Given the description of an element on the screen output the (x, y) to click on. 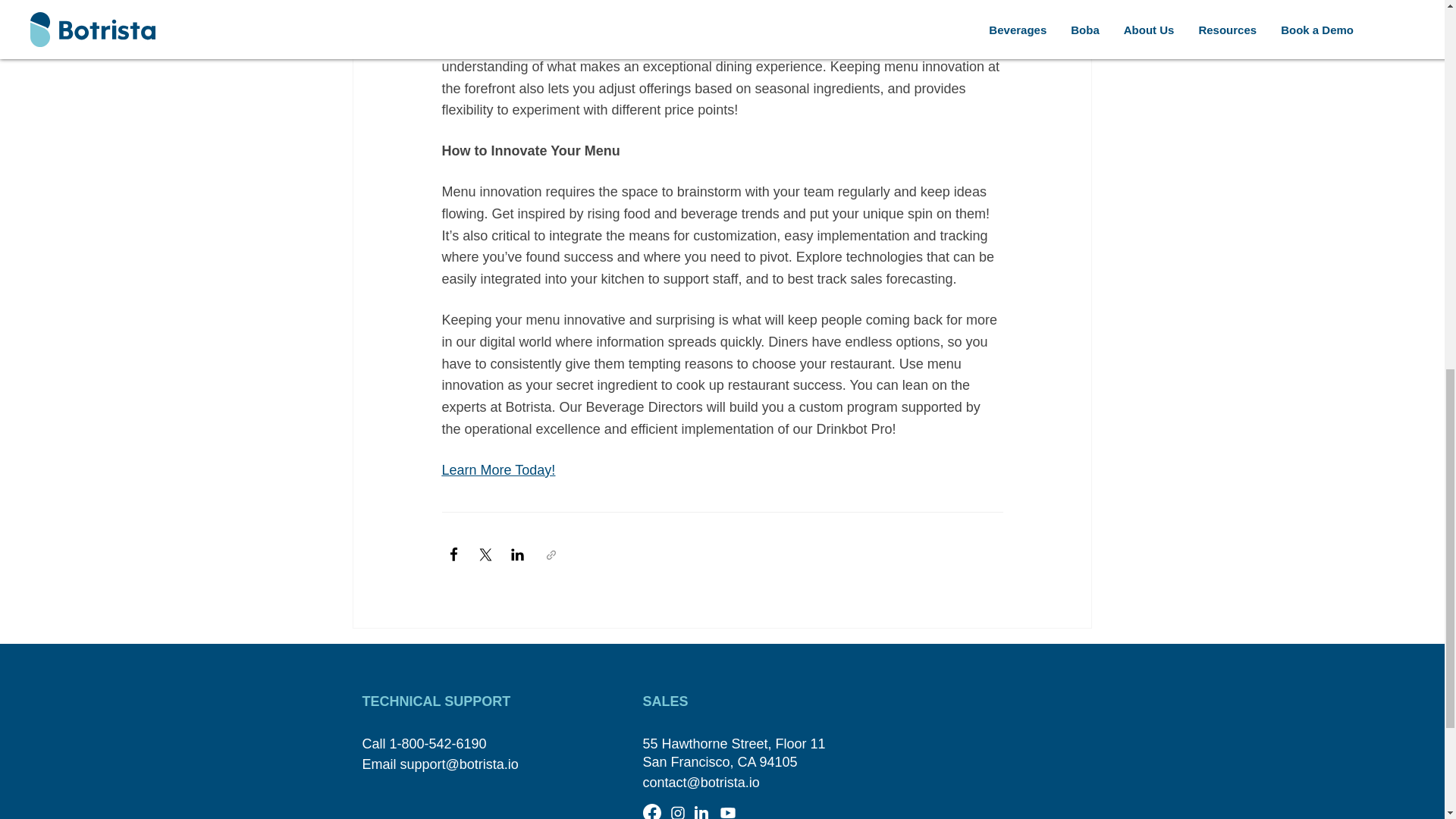
Learn More Today! (497, 469)
Share on Twitter (485, 554)
Share on Facebook (453, 554)
Share on LinkedIn (517, 554)
1-800-542-6190 (438, 743)
